Given the description of an element on the screen output the (x, y) to click on. 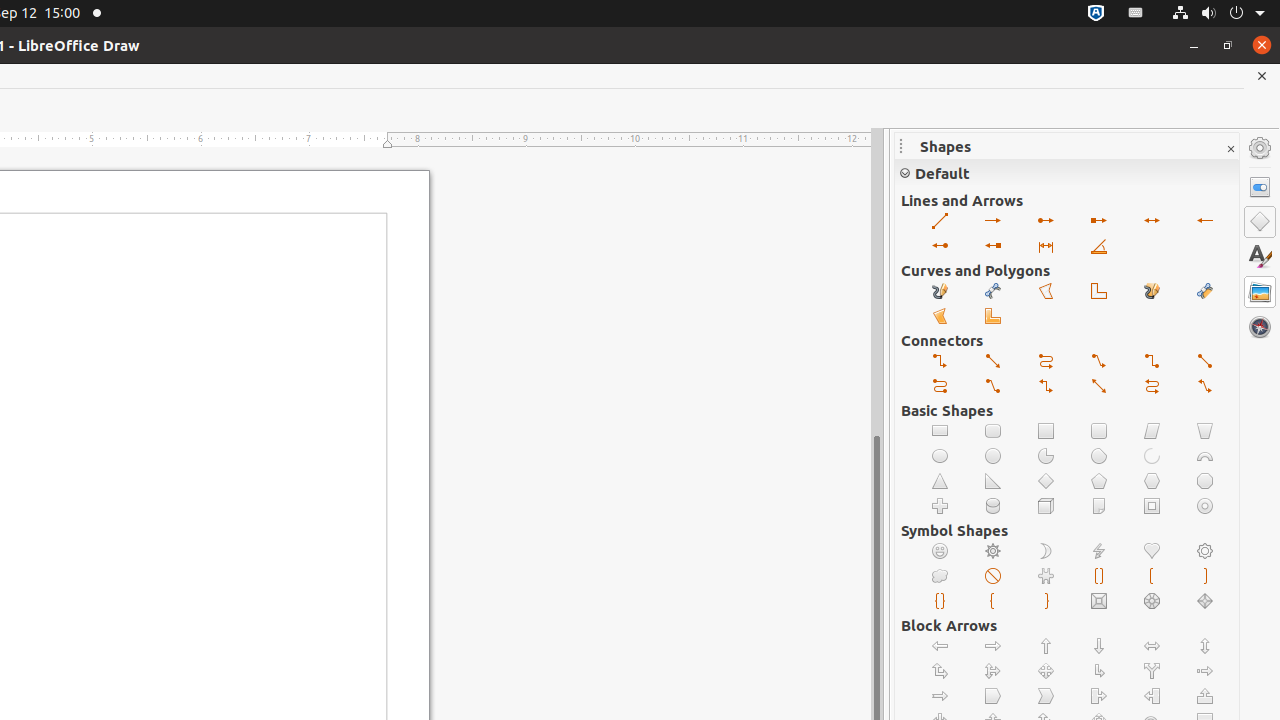
Gallery Element type: radio-button (1260, 292)
Close Sidebar Deck Element type: push-button (1230, 149)
Block Arc Element type: list-item (1205, 456)
Double Brace Element type: list-item (940, 601)
Right Triangle Element type: list-item (993, 481)
